Given the description of an element on the screen output the (x, y) to click on. 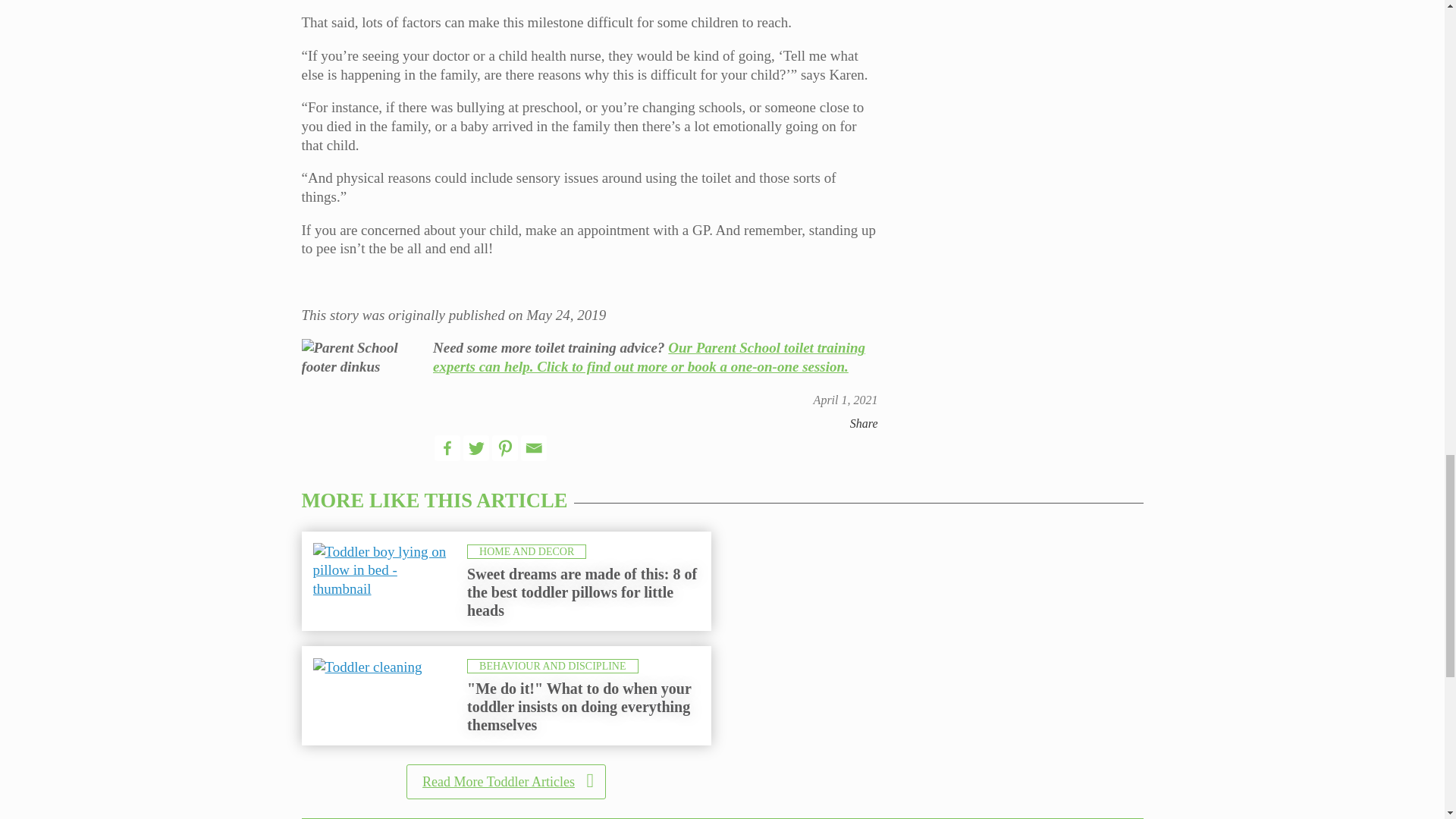
9:00 am (845, 399)
Twitter (476, 447)
Facebook (446, 447)
Pinterest (505, 447)
